Given the description of an element on the screen output the (x, y) to click on. 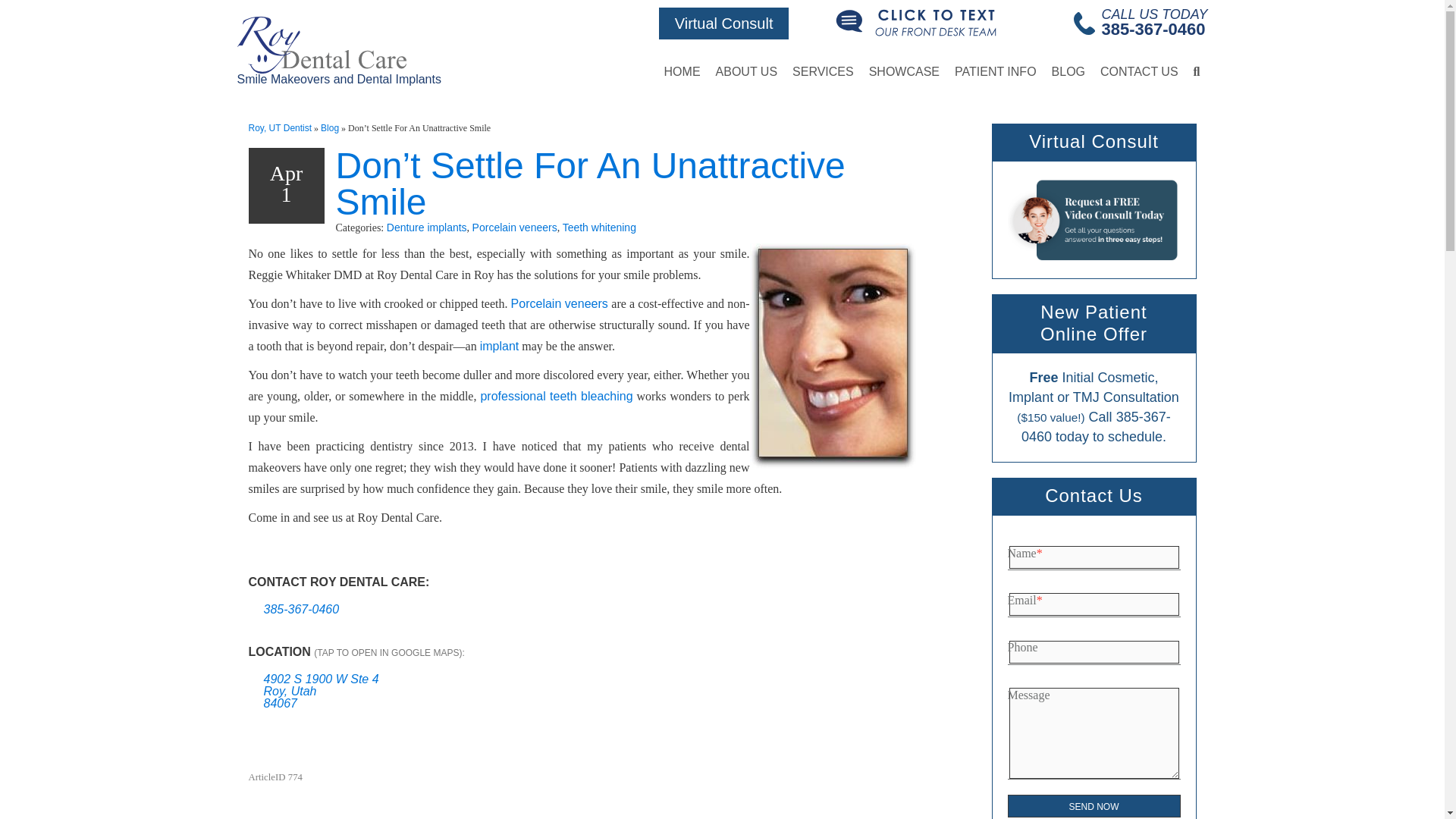
ABOUT US (746, 71)
385-367-0460 (1152, 28)
Send Now (1093, 805)
HOME (681, 71)
Smile Makeovers and Dental Implants (338, 50)
Virtual Consult (724, 23)
Roy Dental Care (338, 50)
SERVICES (822, 71)
